Given the description of an element on the screen output the (x, y) to click on. 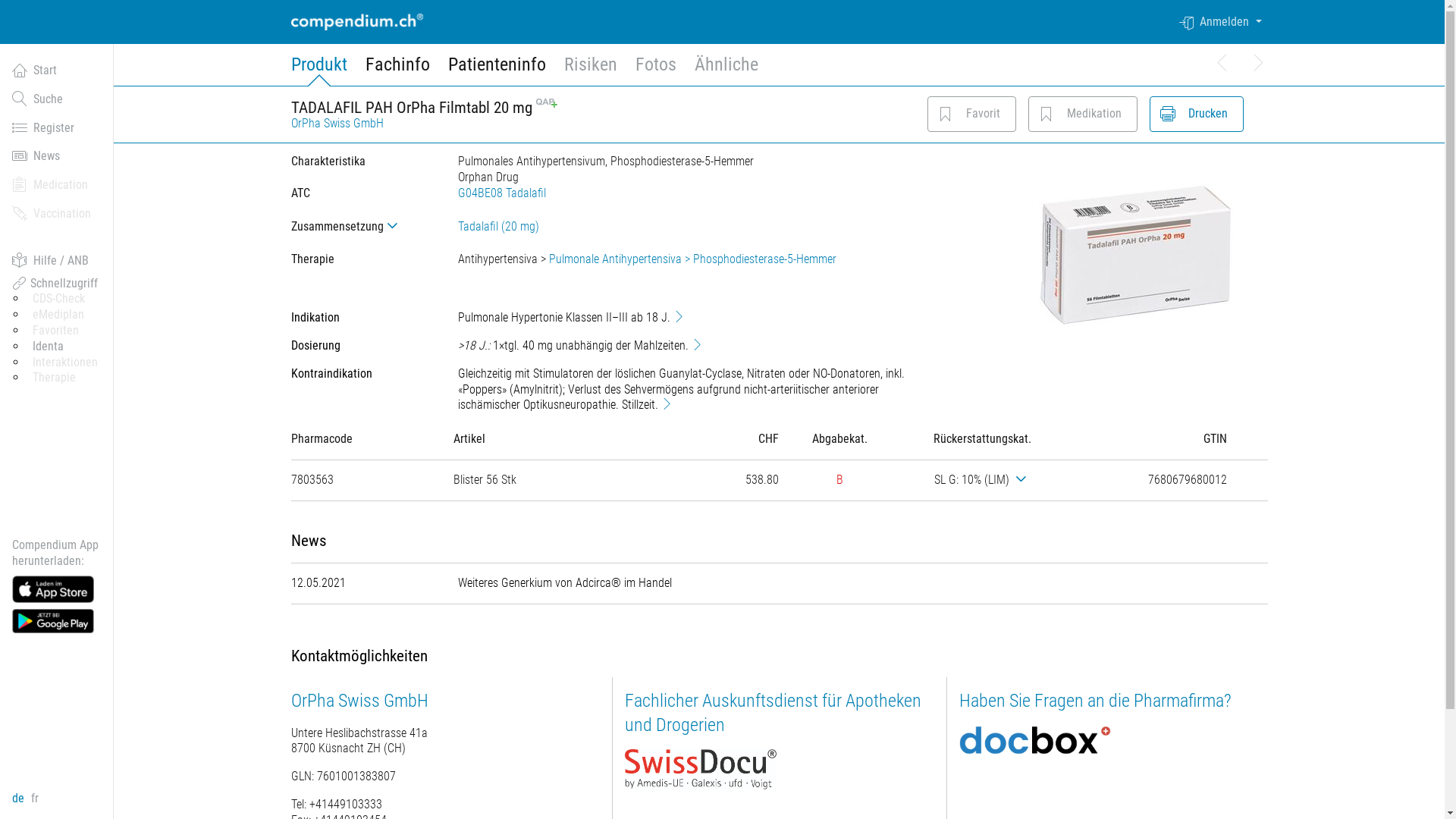
Fotos Element type: text (655, 69)
News Element type: text (56, 155)
Fachinfo Element type: text (397, 69)
Favoriten Element type: text (55, 330)
Aufklappen Element type: hover (393, 226)
Patienteninfo Element type: text (496, 69)
Favorit Element type: text (970, 113)
eMediplan Element type: text (58, 314)
Favoriten Element type: hover (945, 113)
Produkt Element type: text (319, 69)
Start Element type: text (56, 70)
Therapie Element type: text (53, 377)
Kontraindikation Element type: hover (667, 403)
Tadalafil (20 mg) Element type: text (498, 226)
Zusammensetzung Element type: text (362, 226)
fr Element type: text (34, 797)
Dosierung Element type: hover (697, 344)
Register Element type: text (56, 127)
Hilfe / ANB Element type: text (56, 260)
Indikation Element type: hover (679, 316)
OrPha Swiss GmbH Element type: text (337, 123)
Medikation Element type: hover (1046, 113)
Interaktionen Element type: text (64, 361)
Suche Element type: text (56, 98)
Identa Element type: text (47, 345)
Drucken Element type: text (1196, 113)
OrPha Swiss GmbH Element type: text (359, 700)
Limitationen Element type: hover (1023, 479)
Haben Sie Fragen an die Pharmafirma? Element type: text (1094, 700)
Medication Element type: text (56, 184)
Pulmonale Antihypertensiva > Element type: text (621, 258)
CDS-Check Element type: text (58, 298)
 Drucken Element type: hover (1167, 113)
SL G: 10% (LIM) Element type: text (981, 479)
Risiken Element type: text (590, 69)
Phosphodiesterase-5-Hemmer Element type: text (764, 258)
Medikation Element type: text (1082, 113)
G04BE08 Tadalafil Element type: text (502, 192)
Vaccination Element type: text (56, 213)
Anmelden Element type: text (1223, 21)
